Given the description of an element on the screen output the (x, y) to click on. 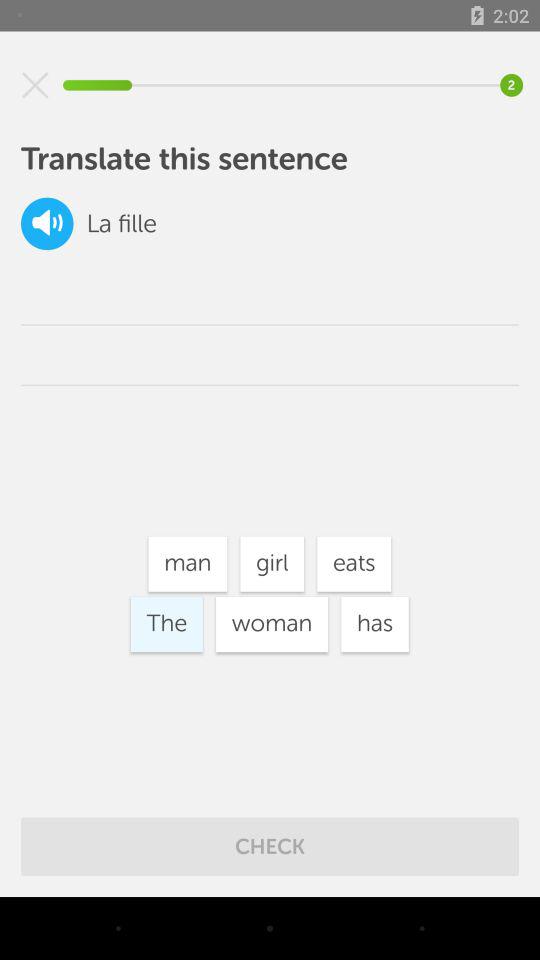
turn off the icon below translate this sentence (47, 223)
